Given the description of an element on the screen output the (x, y) to click on. 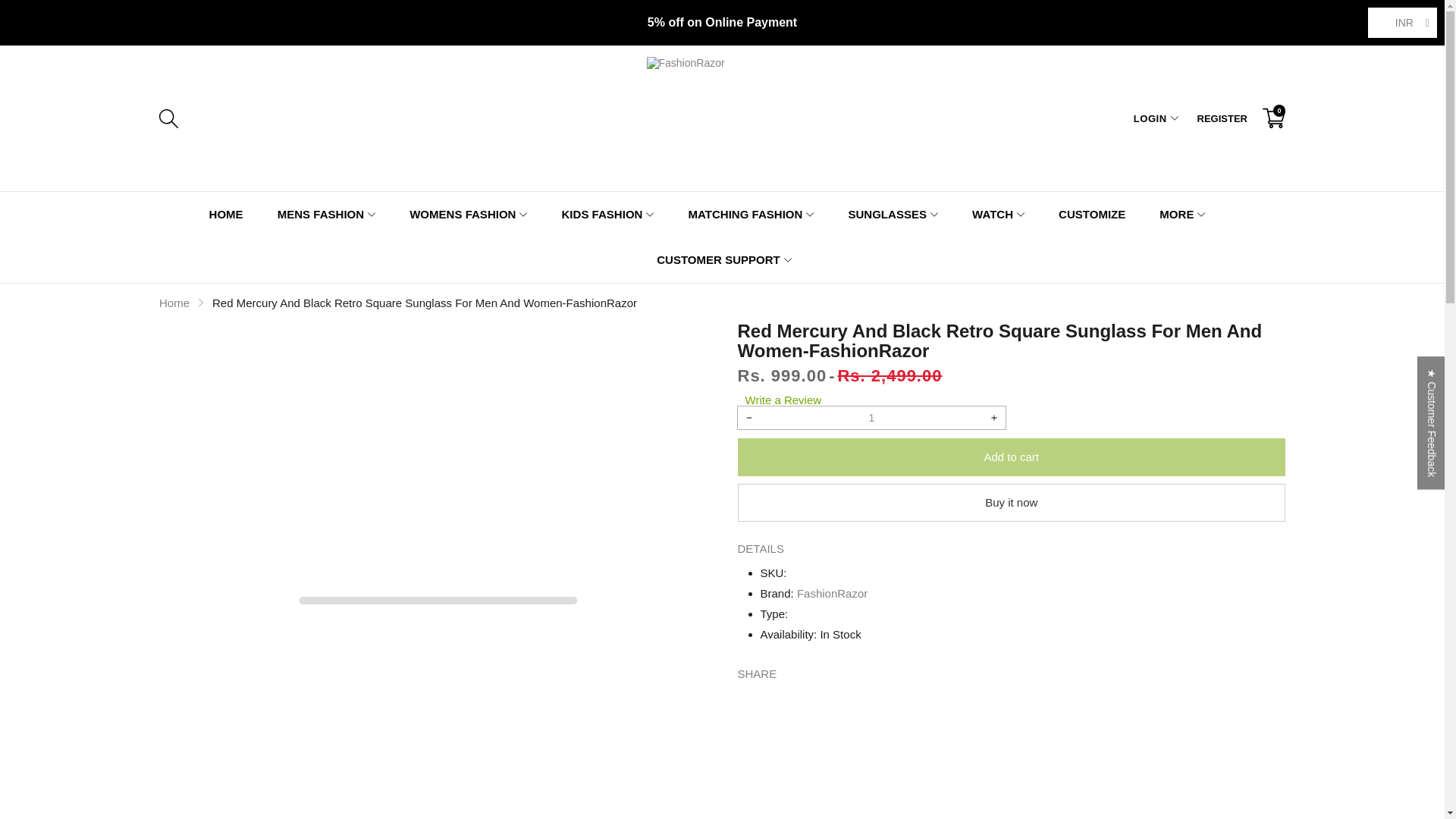
1 (871, 417)
Back to the frontpage (173, 301)
